Given the description of an element on the screen output the (x, y) to click on. 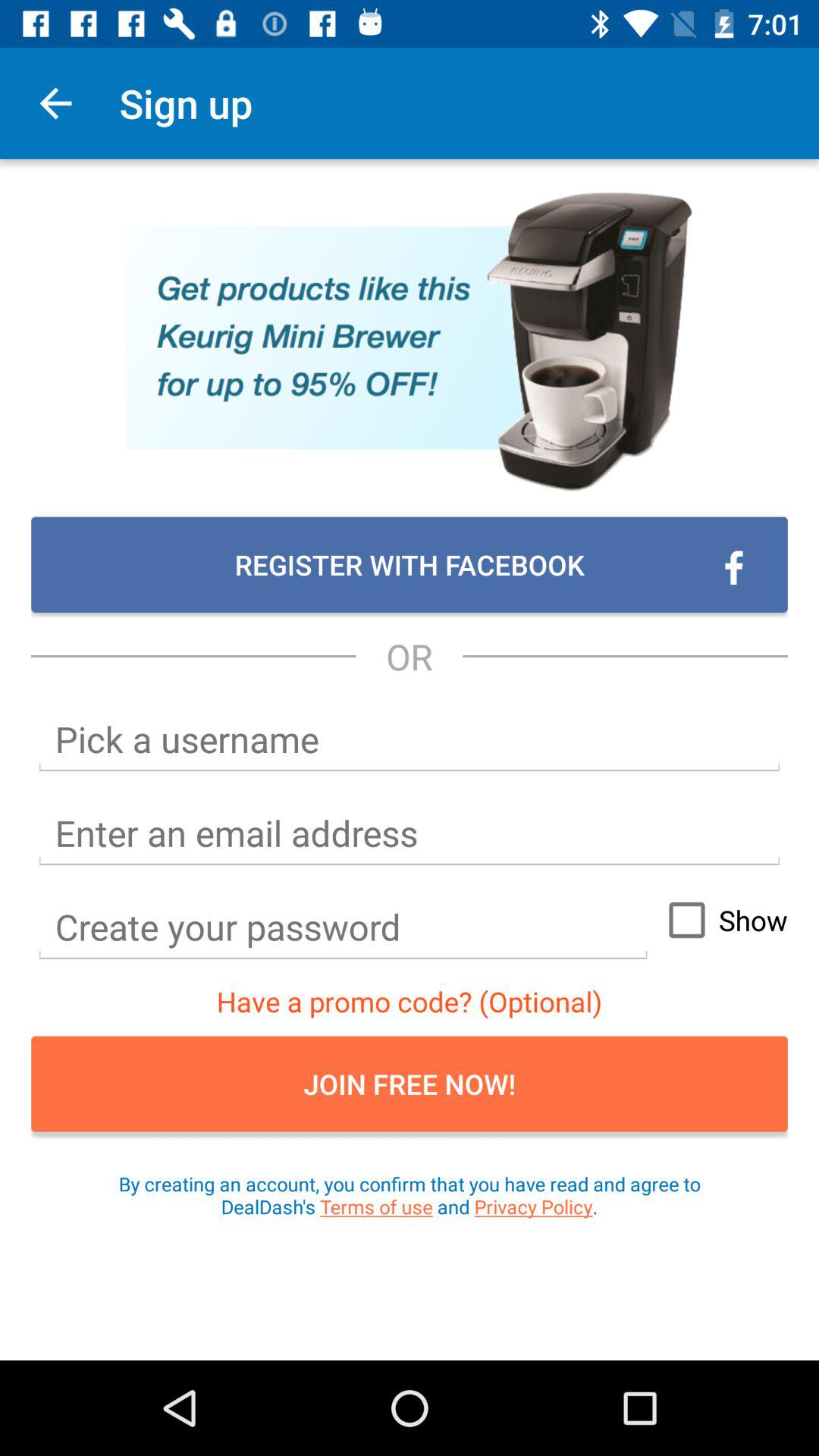
enter username (409, 739)
